Given the description of an element on the screen output the (x, y) to click on. 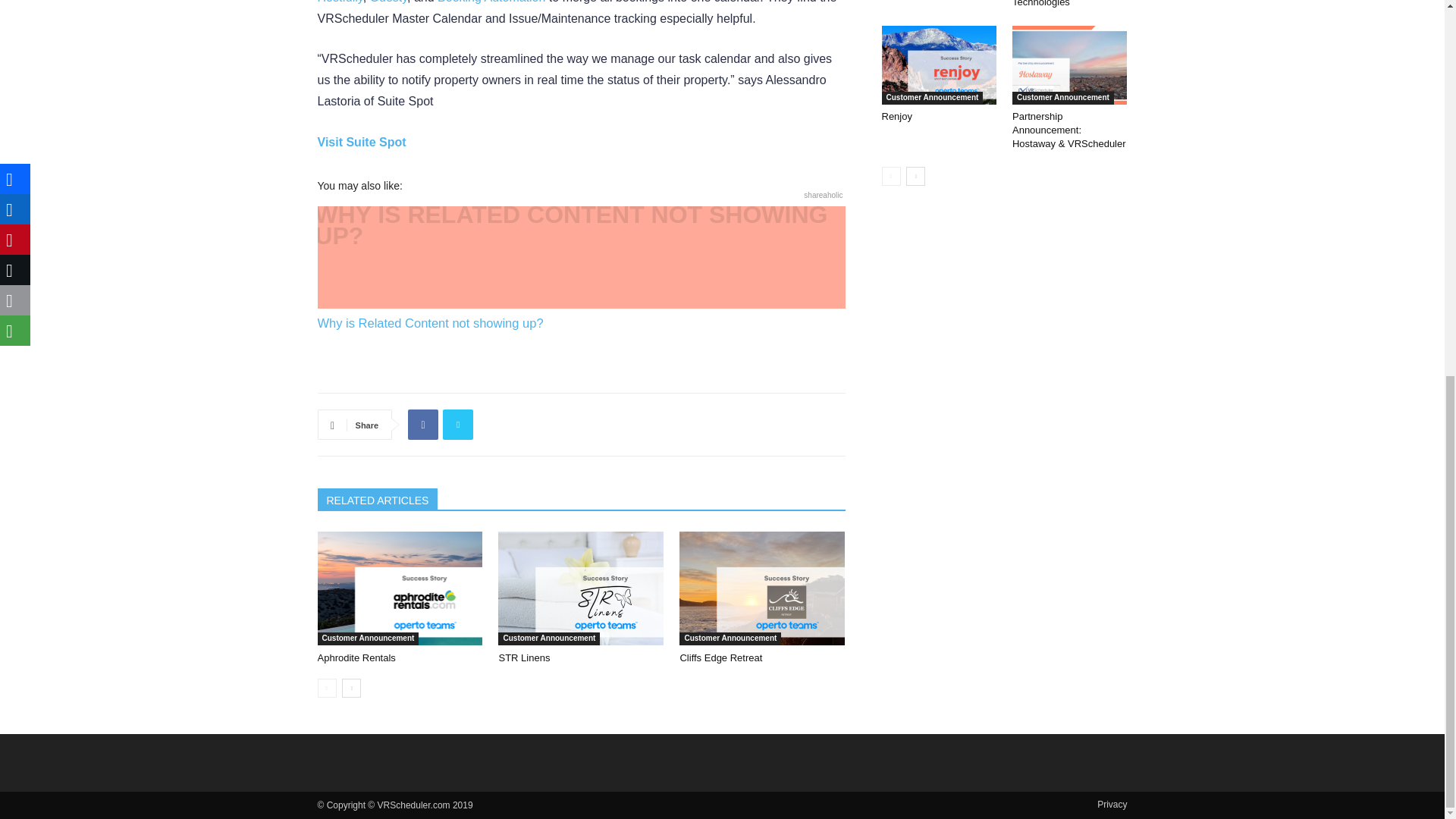
STR Linens (580, 588)
Why is Related Content not showing up? (580, 269)
Aphrodite Rentals (399, 588)
Booking Automation (491, 2)
Hostfully (339, 2)
Visit Suite Spot (361, 141)
Website Tools by Shareaholic (823, 194)
Guesty (388, 2)
Aphrodite Rentals (355, 657)
